Given the description of an element on the screen output the (x, y) to click on. 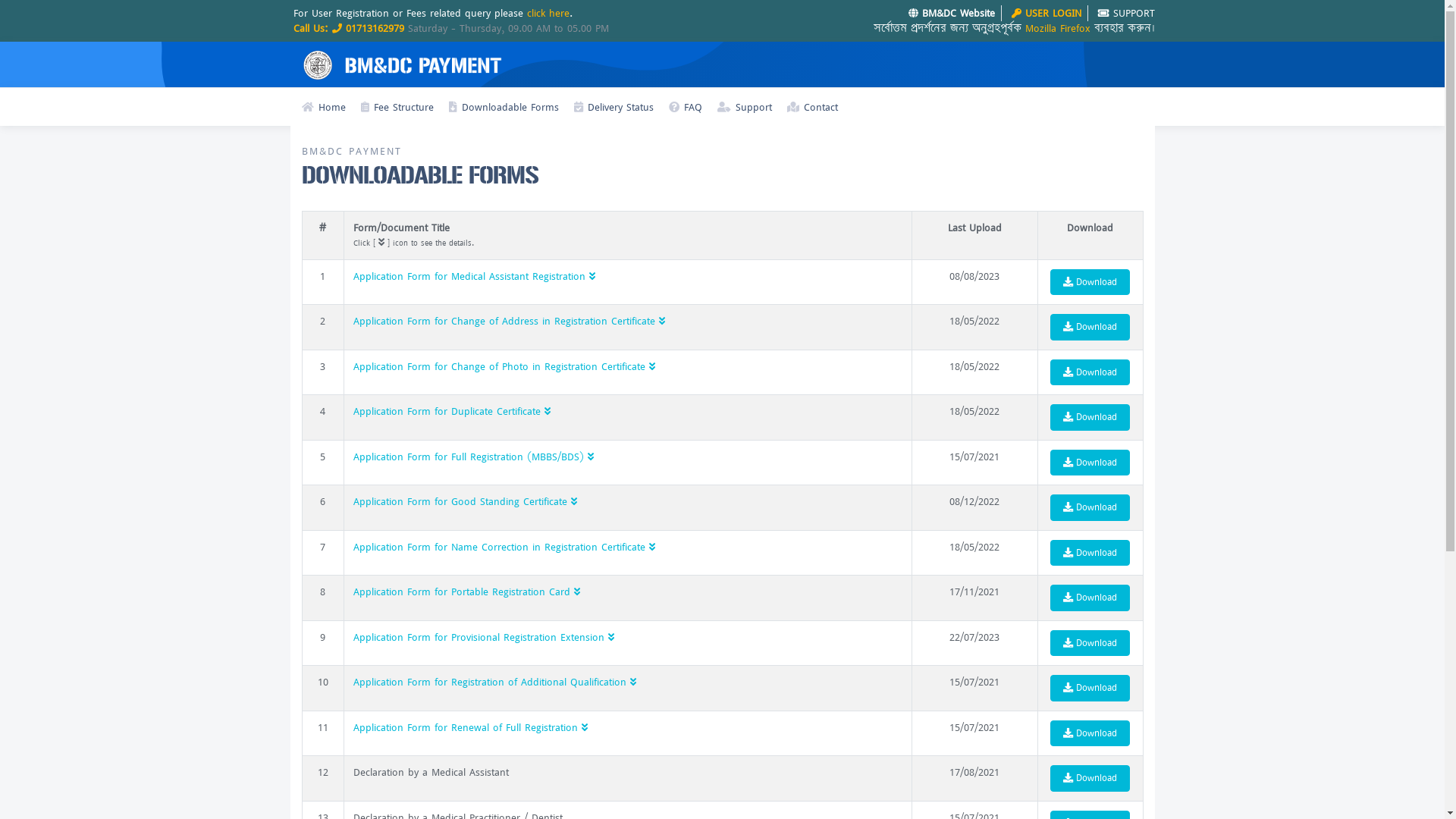
Download Element type: text (1089, 733)
Application Form for Renewal of Full Registration Element type: text (470, 727)
Download Element type: text (1089, 687)
Contact Element type: text (812, 106)
Download Element type: text (1089, 778)
Application Form for Portable Registration Card Element type: text (466, 591)
Application Form for Good Standing Certificate Element type: text (465, 501)
Download Element type: text (1089, 552)
FAQ Element type: text (685, 106)
Download Element type: text (1089, 507)
Download Element type: text (1089, 597)
Application Form for Full Registration (MBBS/BDS) Element type: text (473, 456)
Application Form for Medical Assistant Registration Element type: text (474, 276)
Home Element type: text (323, 106)
click here Element type: text (547, 13)
Download Element type: text (1089, 326)
01713162979 Element type: text (374, 27)
Mozilla Firefox Element type: text (1057, 27)
Download Element type: text (1089, 417)
Download Element type: text (1089, 372)
Fee Structure Element type: text (396, 106)
Declaration by a Medical Assistant Element type: text (430, 772)
BM&DC Website Element type: text (951, 13)
Support Element type: text (744, 106)
Download Element type: text (1089, 462)
Application Form for Duplicate Certificate Element type: text (451, 411)
Delivery Status Element type: text (612, 106)
USER LOGIN Element type: text (1046, 13)
Application Form for Provisional Registration Extension Element type: text (483, 637)
Downloadable Forms Element type: text (503, 106)
Download Element type: text (1089, 282)
SUPPORT Element type: text (1123, 13)
Download Element type: text (1089, 643)
